Given the description of an element on the screen output the (x, y) to click on. 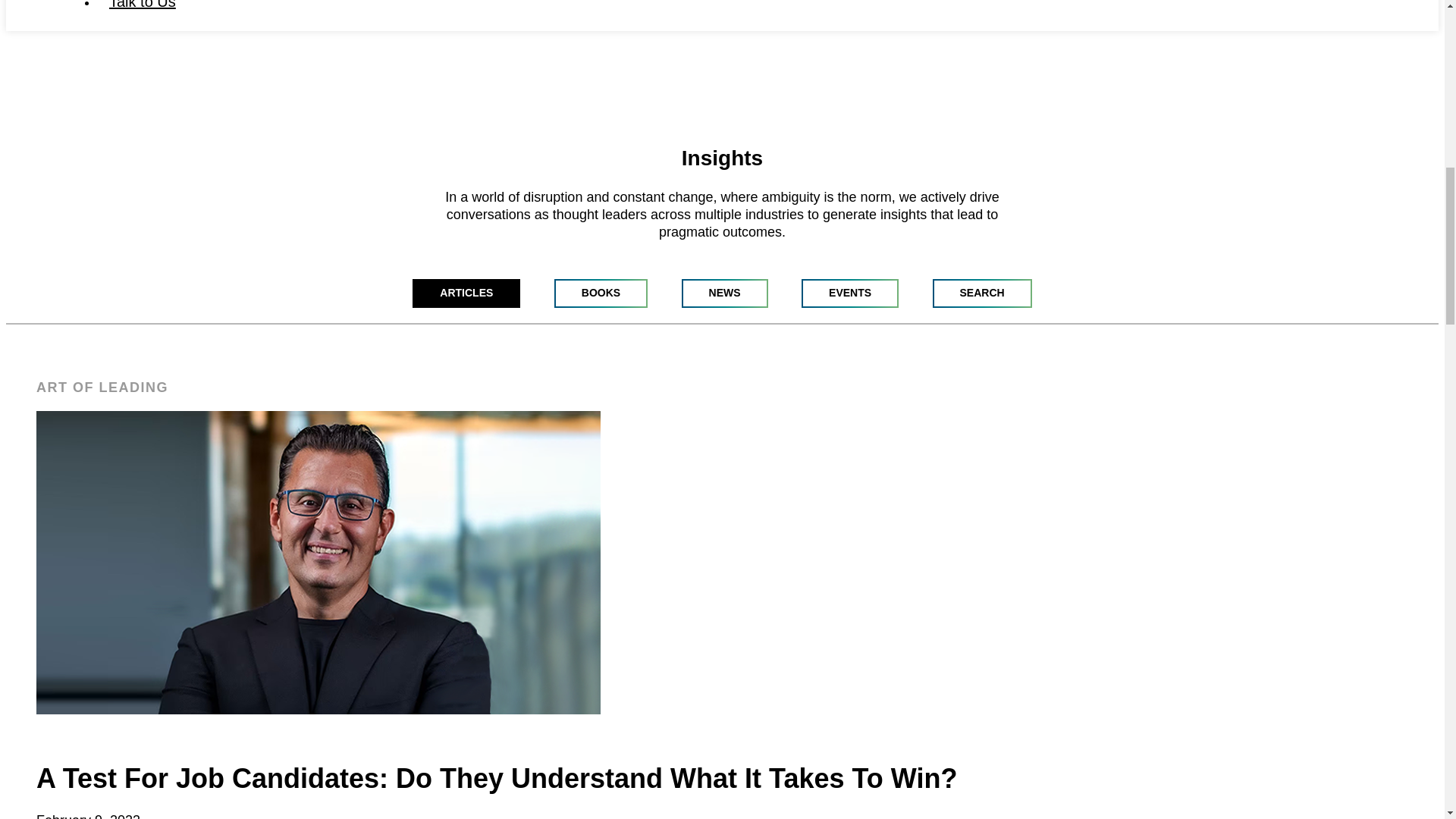
EVENTS (850, 293)
Talk to Us (142, 4)
BOOKS (600, 293)
NEWS (724, 293)
SEARCH (982, 293)
ARTICLES (465, 293)
